Given the description of an element on the screen output the (x, y) to click on. 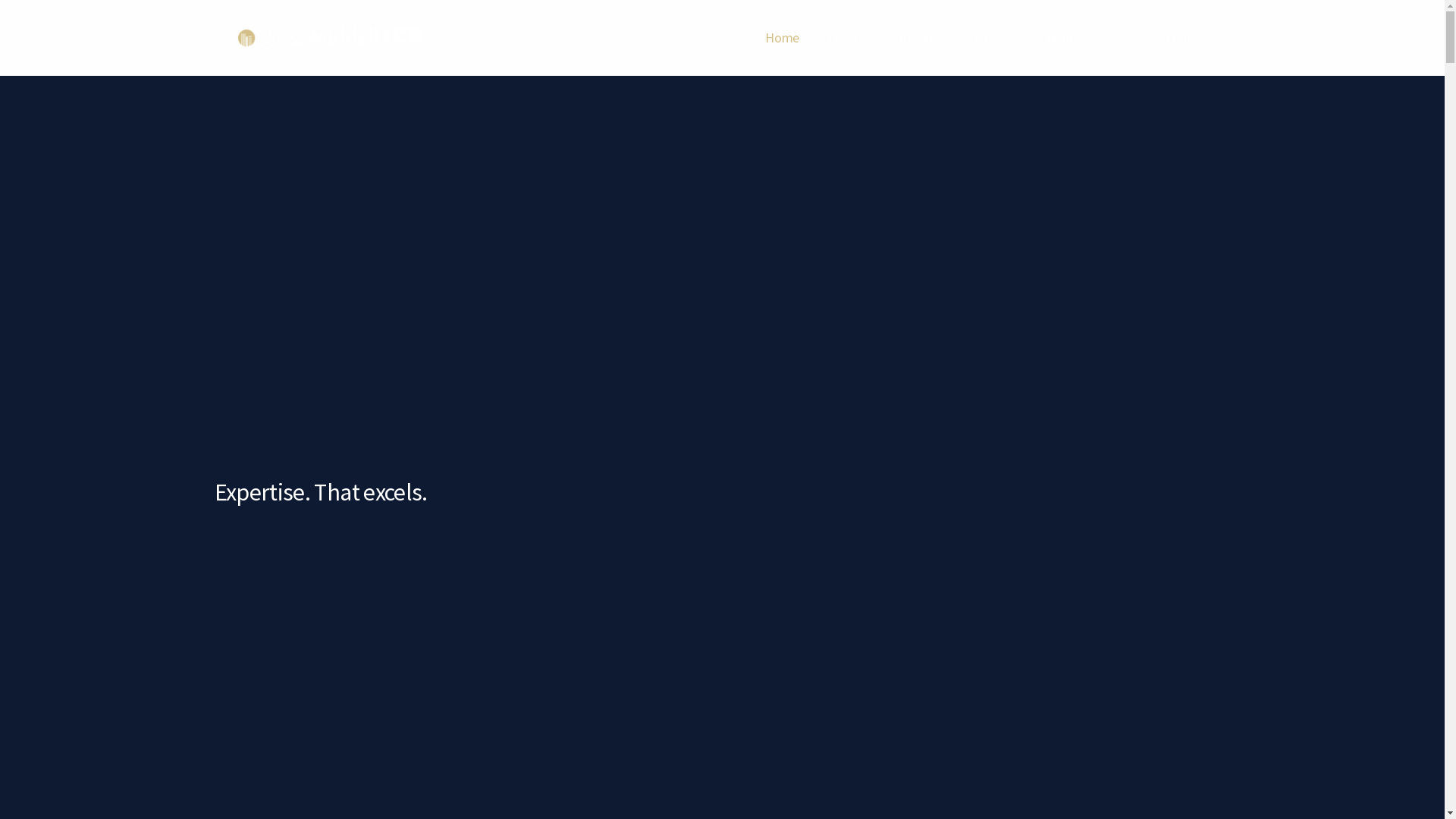
Team Element type: text (1060, 37)
Home Element type: text (781, 37)
Listings Element type: text (848, 37)
News Element type: text (1120, 37)
Contact Element type: text (1186, 37)
Results Element type: text (919, 37)
Divisions Element type: text (992, 37)
